Given the description of an element on the screen output the (x, y) to click on. 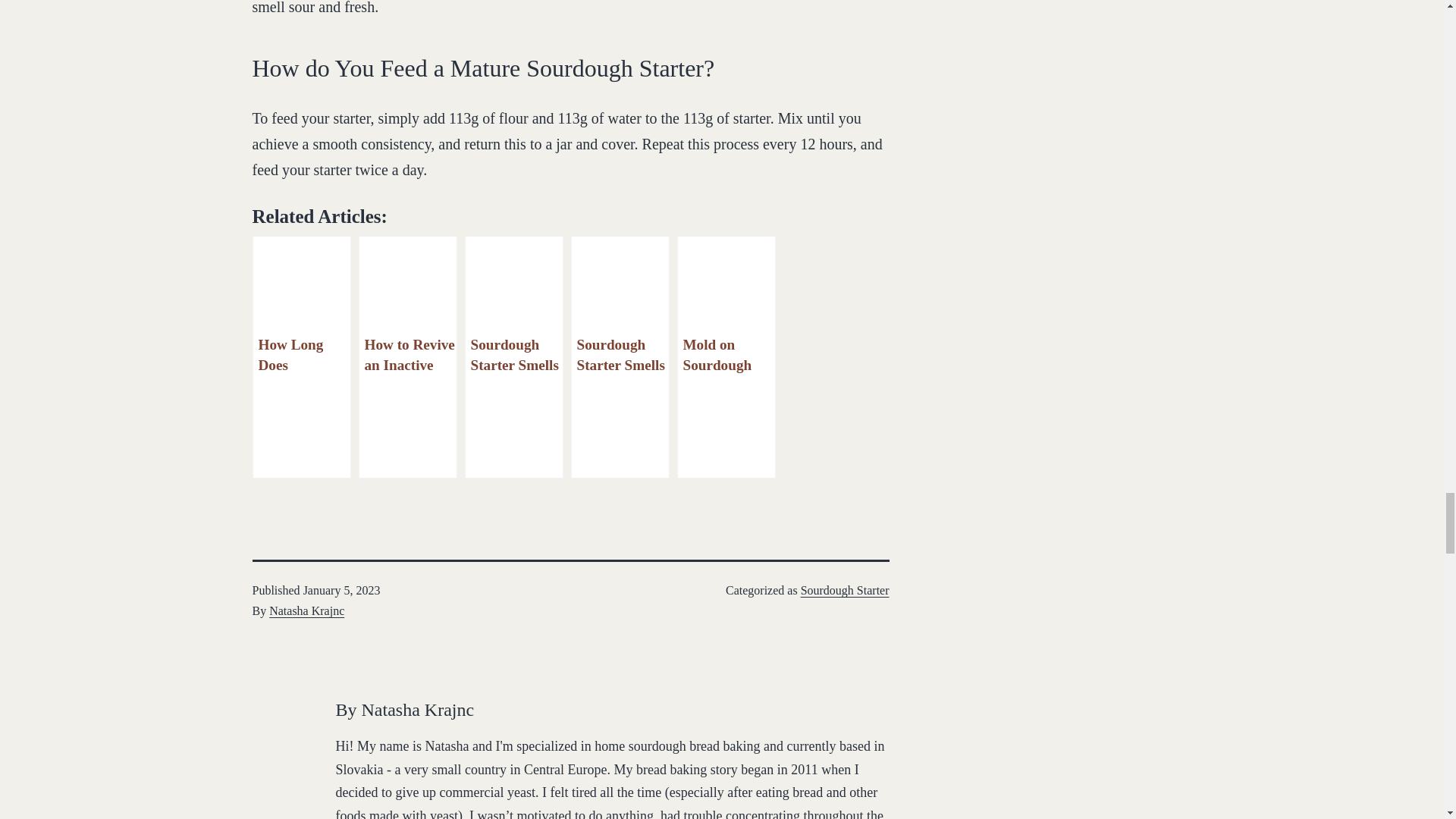
How To Revive An Inactive Sourdough Starter? Top Tips 5 (407, 285)
Sourdough Starter Smells Like Vinegar? 6 Steps To Fix It! 6 (513, 285)
